Given the description of an element on the screen output the (x, y) to click on. 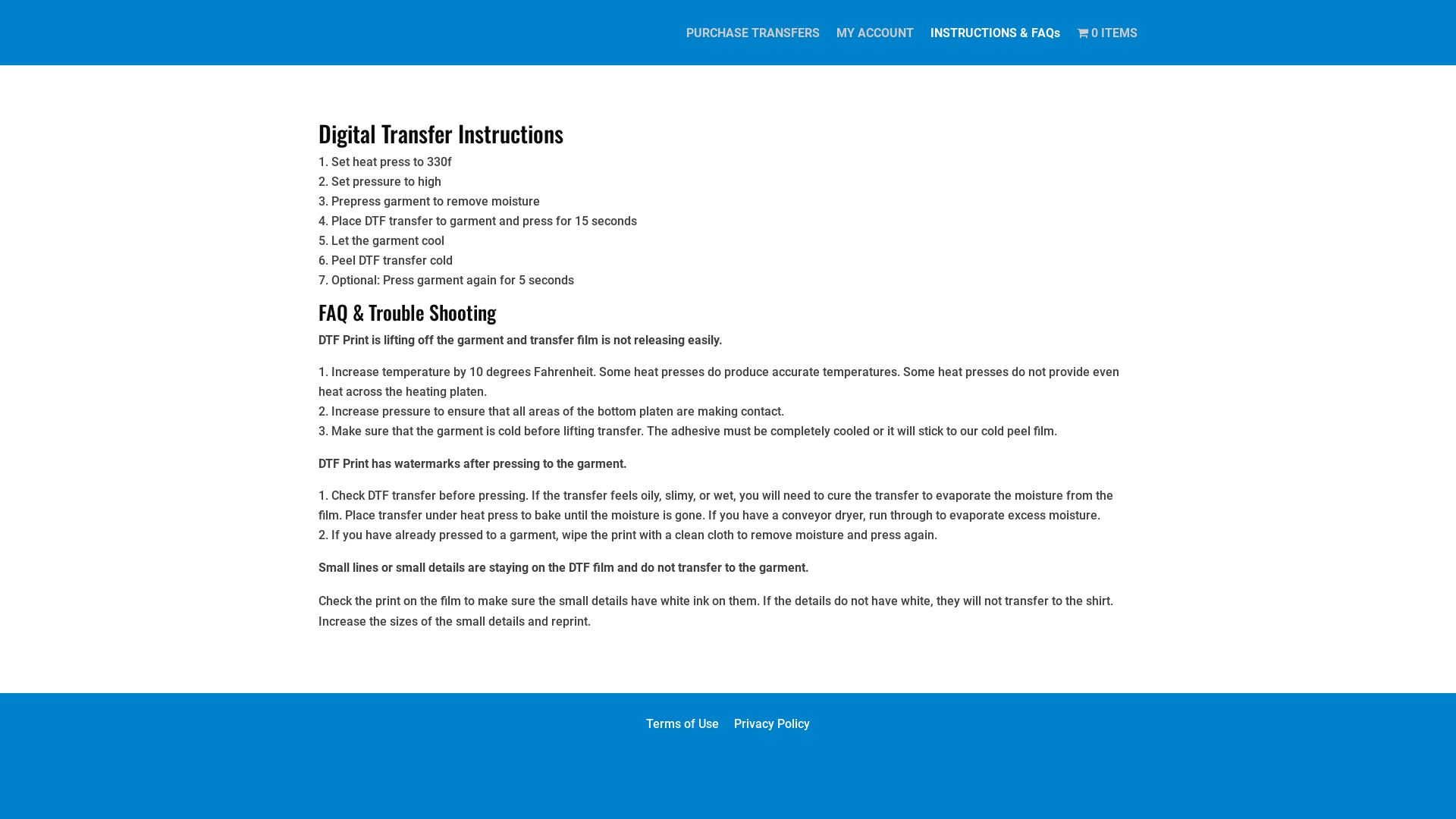
Terms of Use Element type: text (682, 723)
INSTRUCTIONS & FAQs Element type: text (995, 46)
0 ITEMS Element type: text (1106, 45)
Privacy Policy Element type: text (771, 723)
MY ACCOUNT Element type: text (874, 46)
PURCHASE TRANSFERS Element type: text (752, 46)
